Given the description of an element on the screen output the (x, y) to click on. 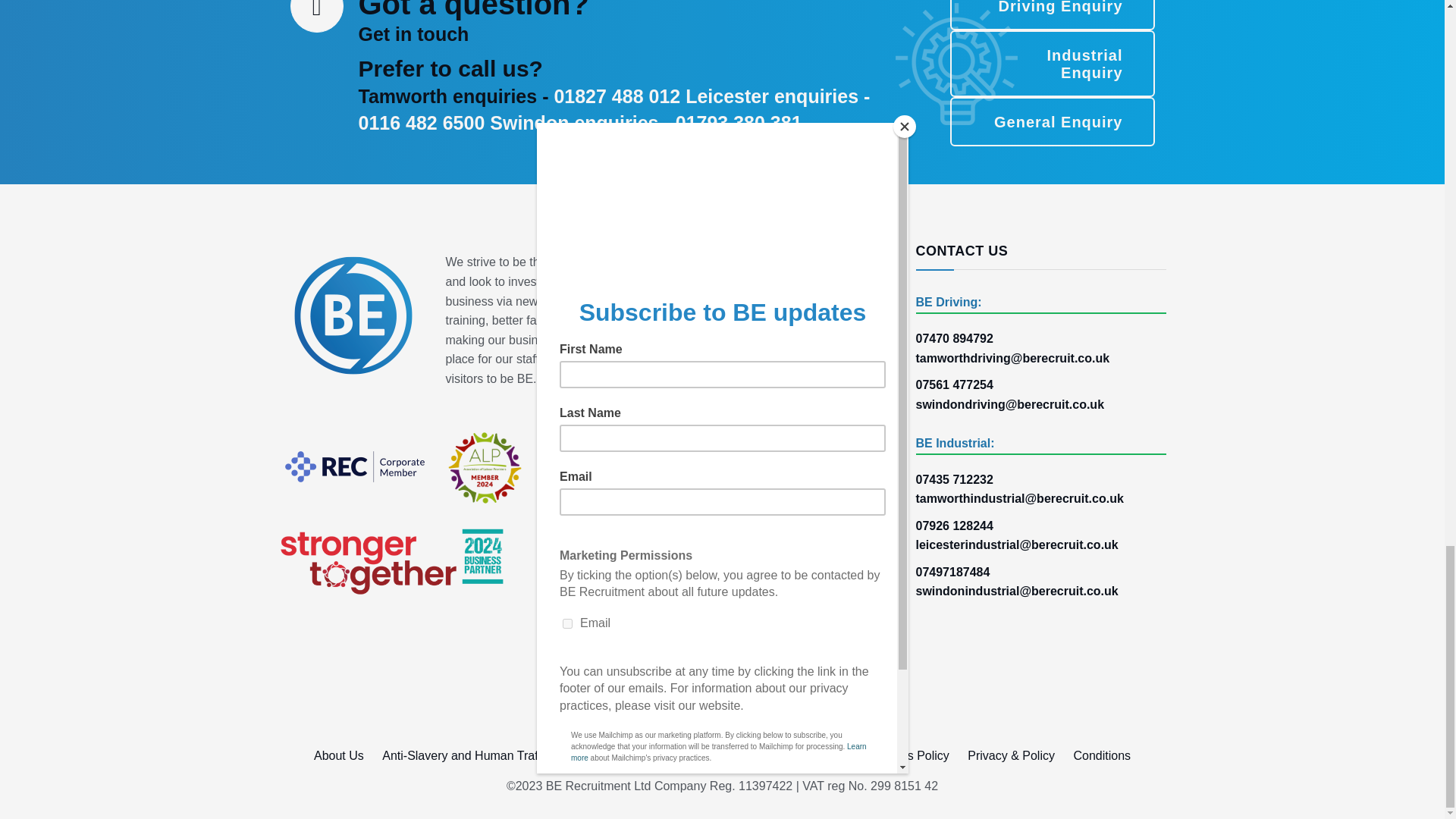
Email BE Industrial Tamworth (1040, 498)
Call BE Driving Swindon (953, 384)
Call BE Industrial Leicester (953, 525)
Email BE Driving Tamworth (1040, 358)
Email BE Driving Swindon (1010, 404)
Email BE Industrial Leicester (1040, 545)
Call BE Industrial Tamworth (953, 478)
Call BE Industrial Swindon (952, 571)
Call BE Driving Tamworth (953, 338)
